Given the description of an element on the screen output the (x, y) to click on. 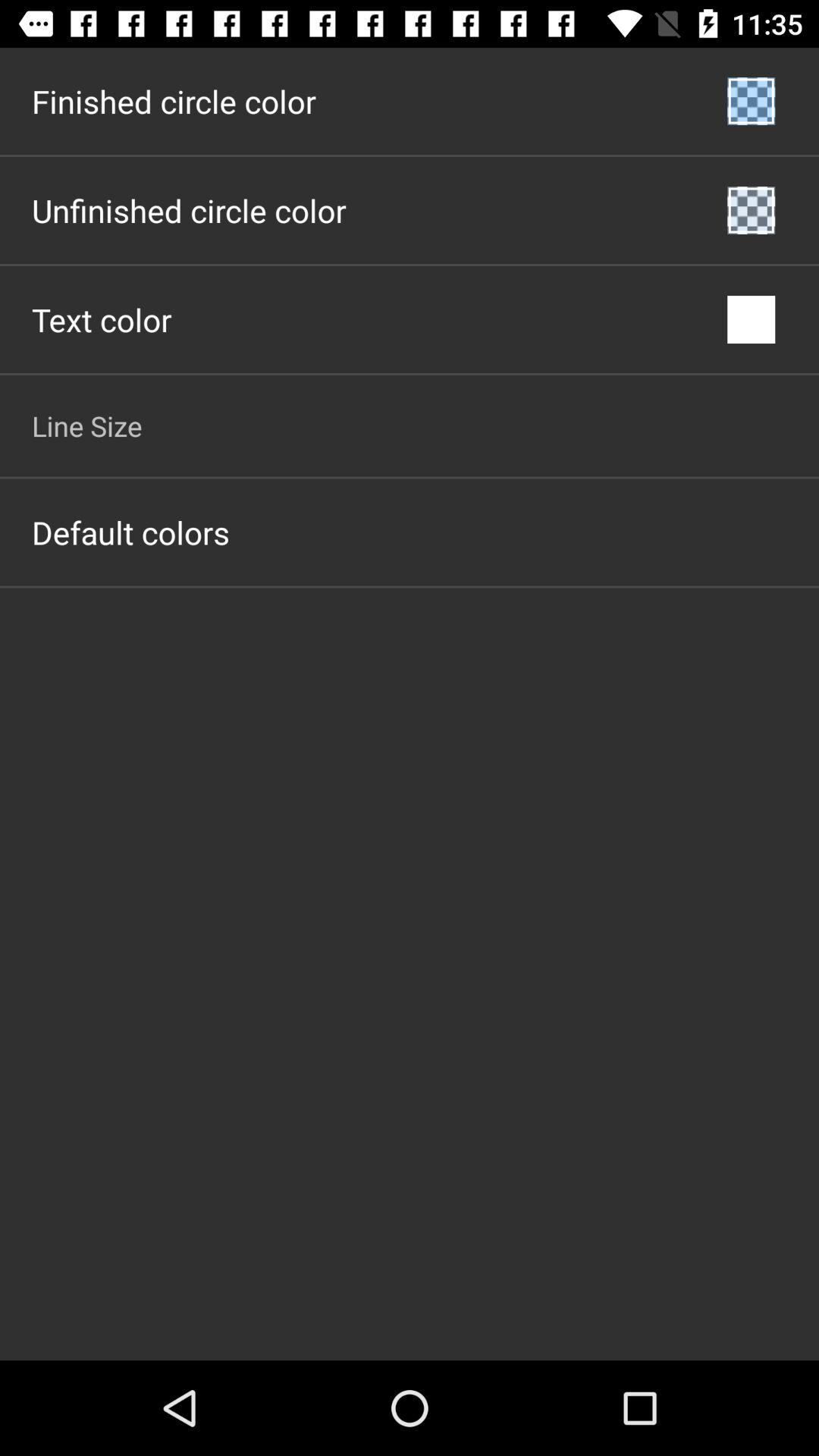
turn on the line size item (86, 425)
